Given the description of an element on the screen output the (x, y) to click on. 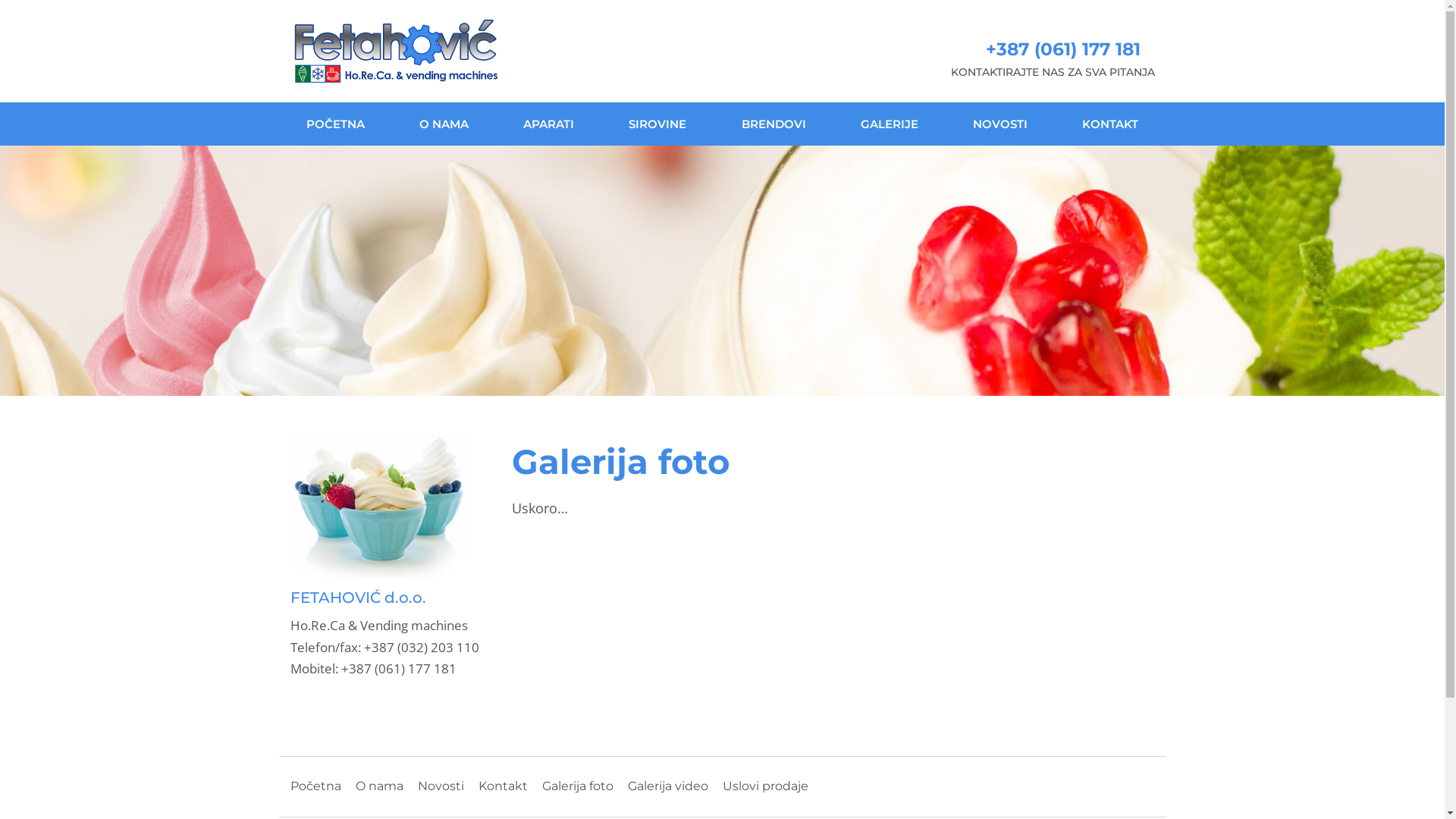
Galerija video Element type: text (667, 785)
KONTAKT Element type: text (1109, 123)
Kontakt Element type: text (502, 785)
Galerija foto Element type: text (576, 785)
Uslovi prodaje Element type: text (764, 785)
APARATI Element type: text (548, 123)
SIROVINE Element type: text (657, 123)
GALERIJE Element type: text (889, 123)
O nama Element type: text (378, 785)
BRENDOVI Element type: text (773, 123)
O NAMA Element type: text (443, 123)
NOVOSTI Element type: text (999, 123)
Skip to content Element type: text (0, 0)
Novosti Element type: text (440, 785)
